Given the description of an element on the screen output the (x, y) to click on. 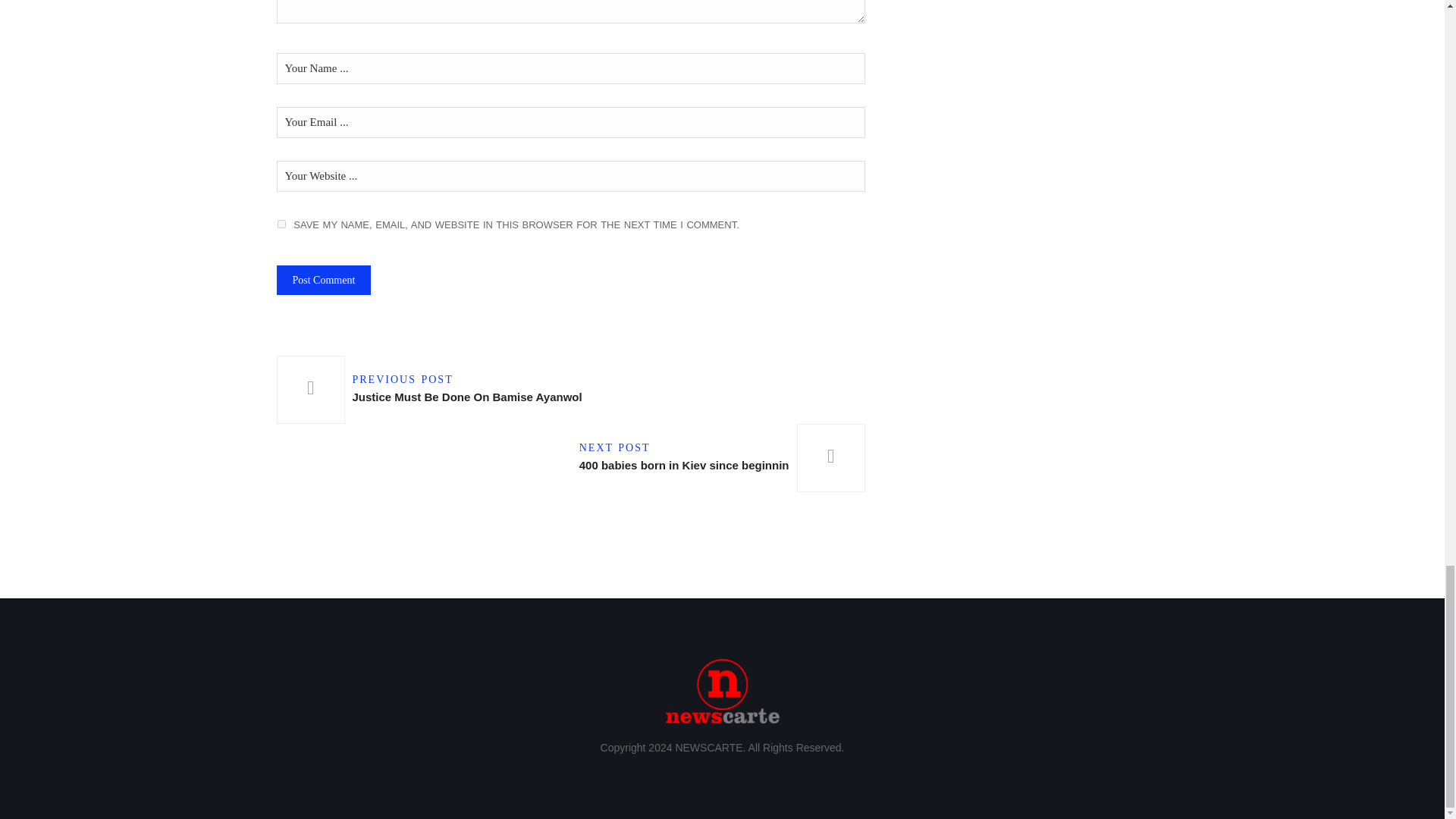
Post Comment (323, 279)
yes (280, 224)
Post Comment (323, 279)
